Given the description of an element on the screen output the (x, y) to click on. 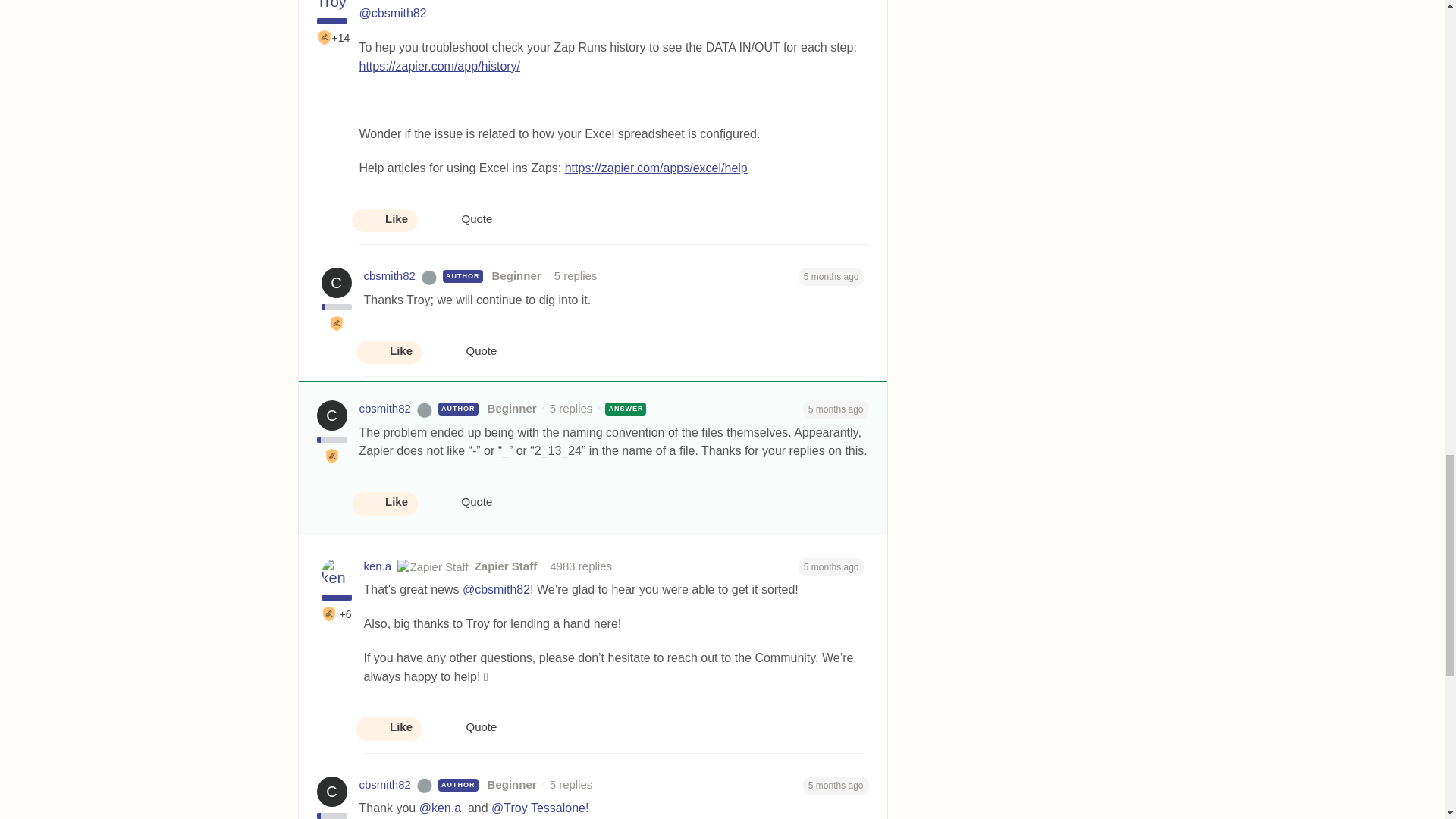
cbsmith82 (389, 276)
First Best Answer (328, 613)
cbsmith82 (384, 784)
First Best Answer (336, 323)
First Best Answer (324, 37)
cbsmith82 (384, 408)
First Best Answer (331, 456)
ken.a (377, 566)
